Given the description of an element on the screen output the (x, y) to click on. 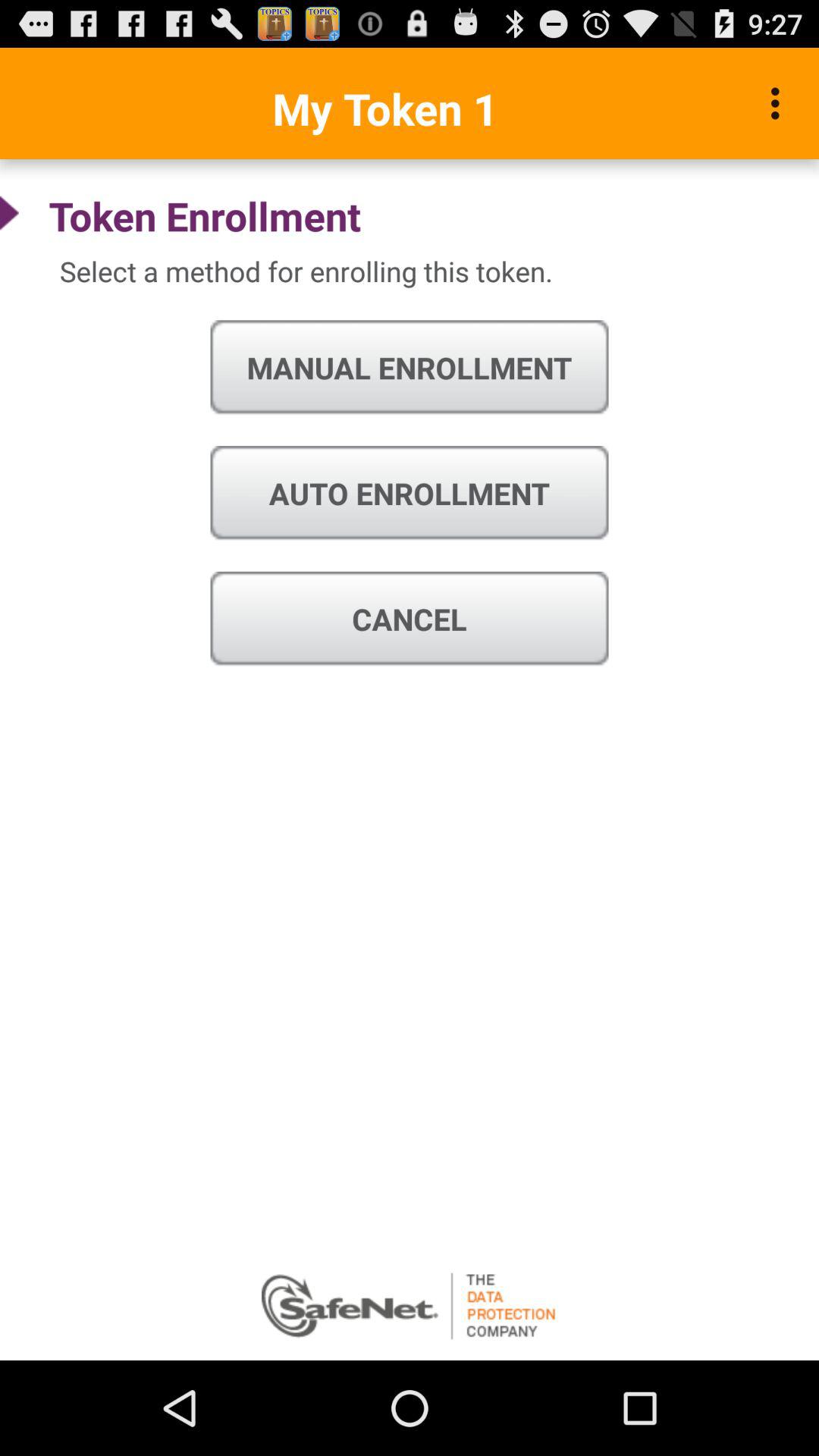
jump until auto enrollment (409, 493)
